Given the description of an element on the screen output the (x, y) to click on. 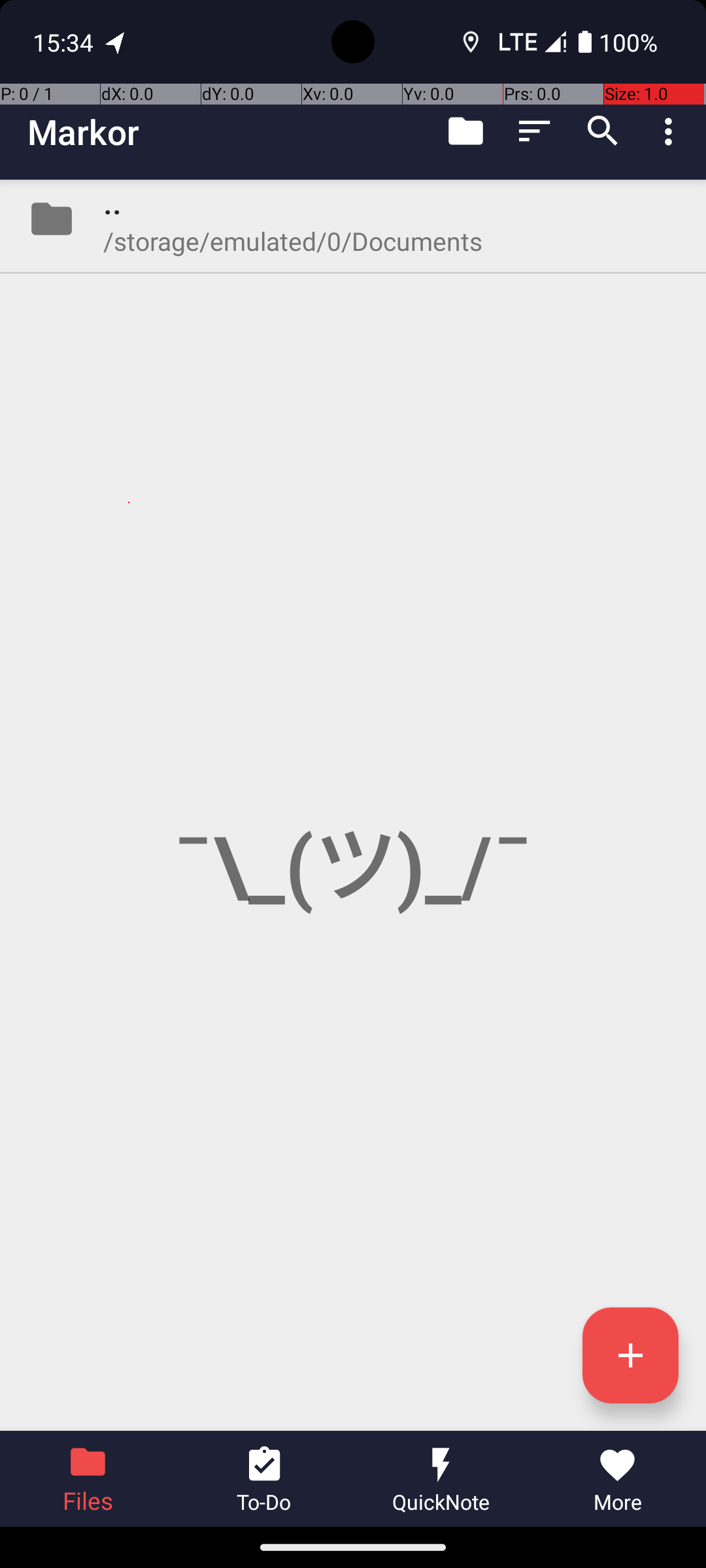
OpenTracks notification:  Element type: android.widget.ImageView (115, 41)
